Given the description of an element on the screen output the (x, y) to click on. 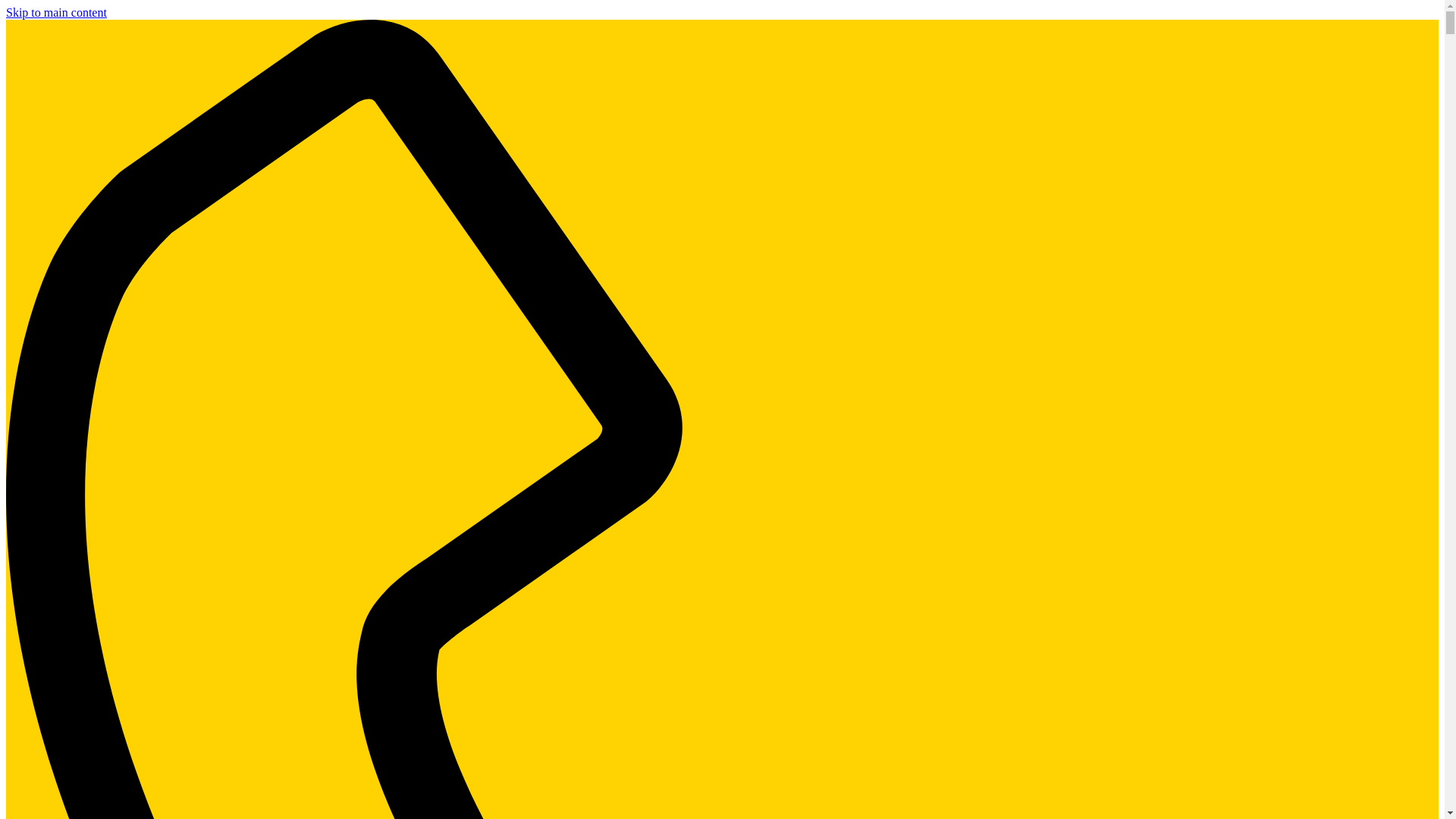
Skip to main content (55, 11)
